Given the description of an element on the screen output the (x, y) to click on. 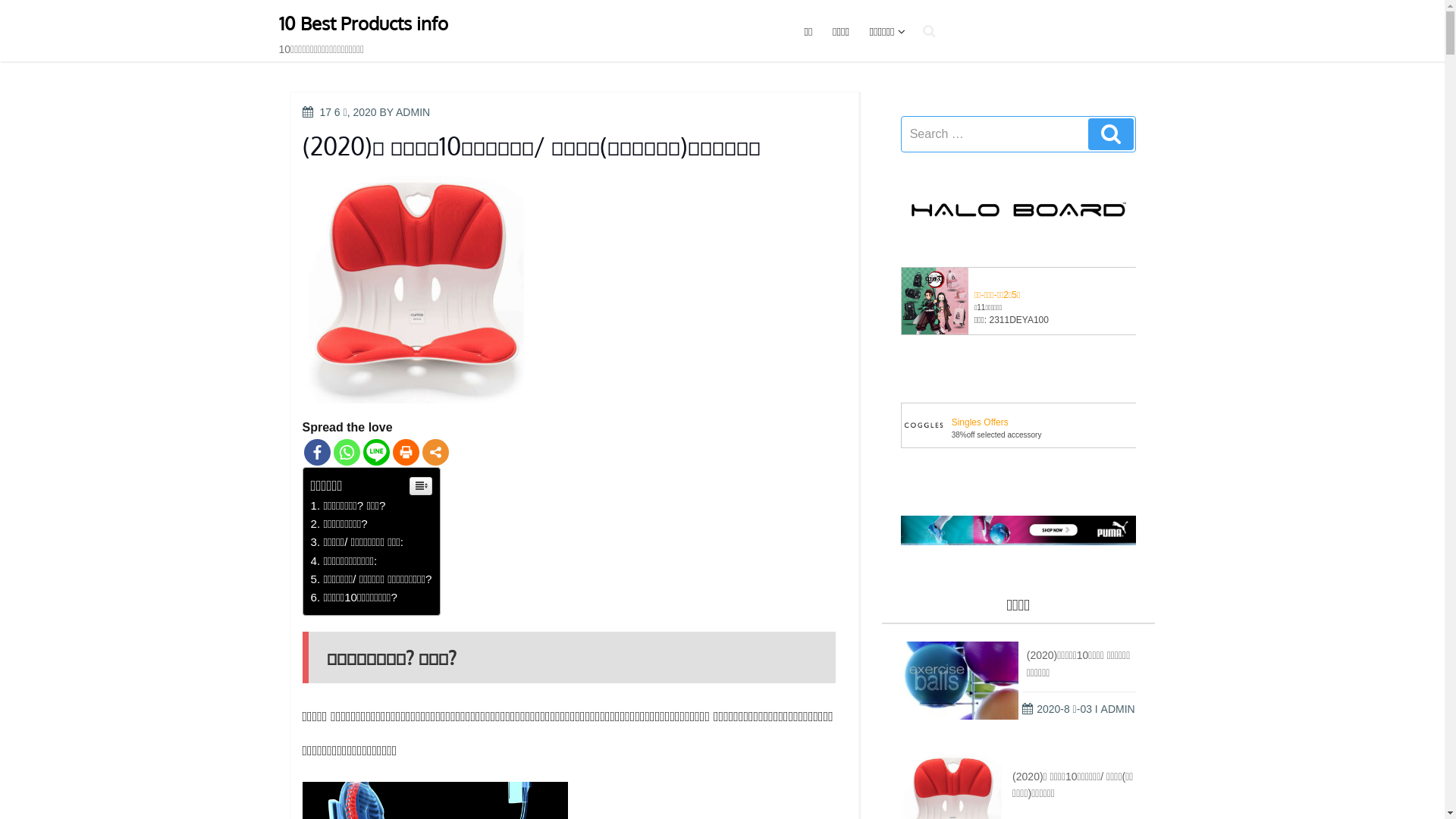
Facebook Element type: hover (316, 452)
Search Element type: text (1109, 134)
More Element type: hover (434, 452)
Line Element type: hover (375, 452)
Whatsapp Element type: hover (346, 452)
Skip to content Element type: text (0, 0)
10 Best Products info Element type: text (363, 22)
ADMIN Element type: text (412, 112)
Print Element type: hover (405, 452)
